Given the description of an element on the screen output the (x, y) to click on. 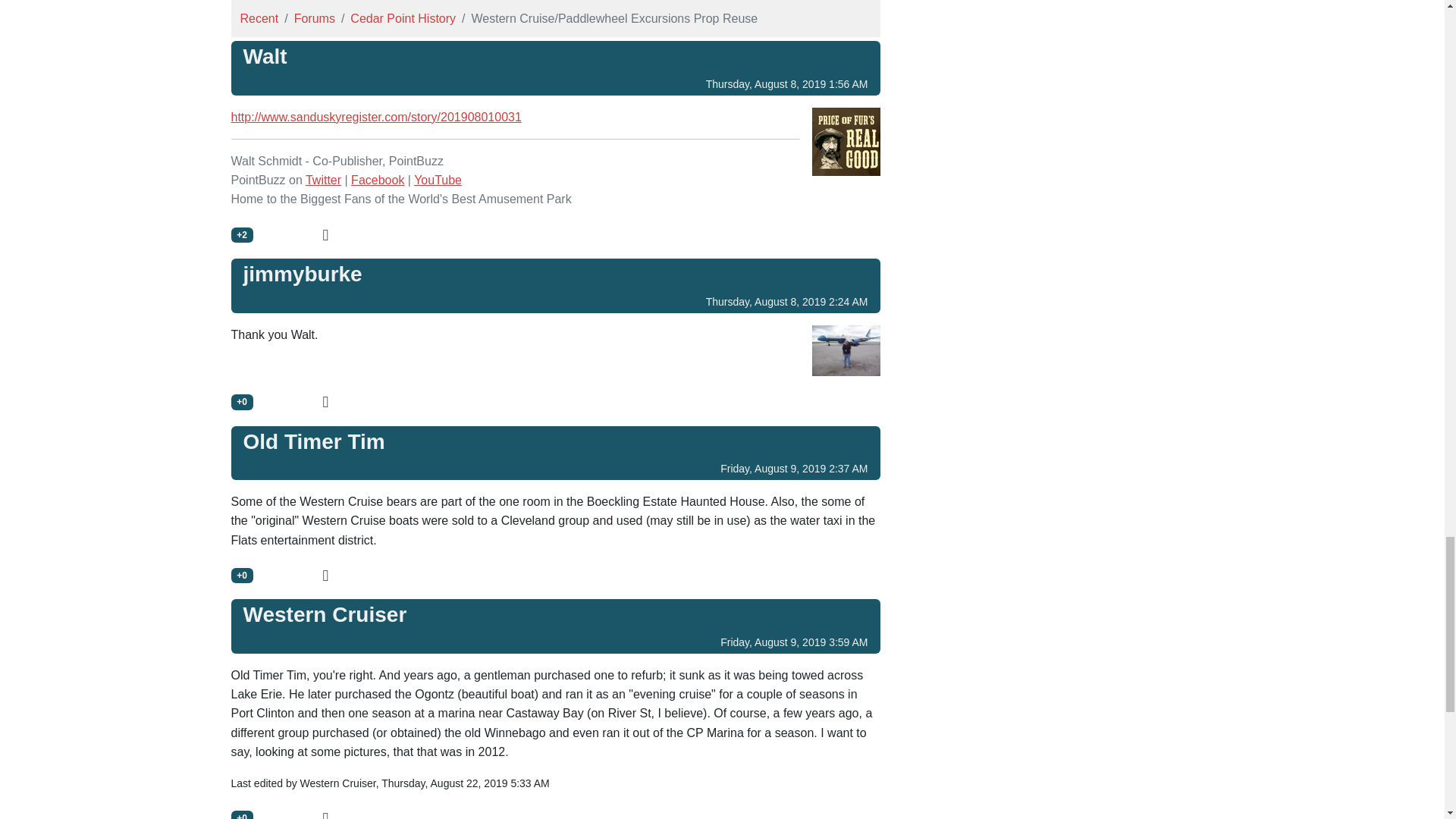
YouTube (437, 179)
Twitter (322, 179)
Facebook (377, 179)
